Given the description of an element on the screen output the (x, y) to click on. 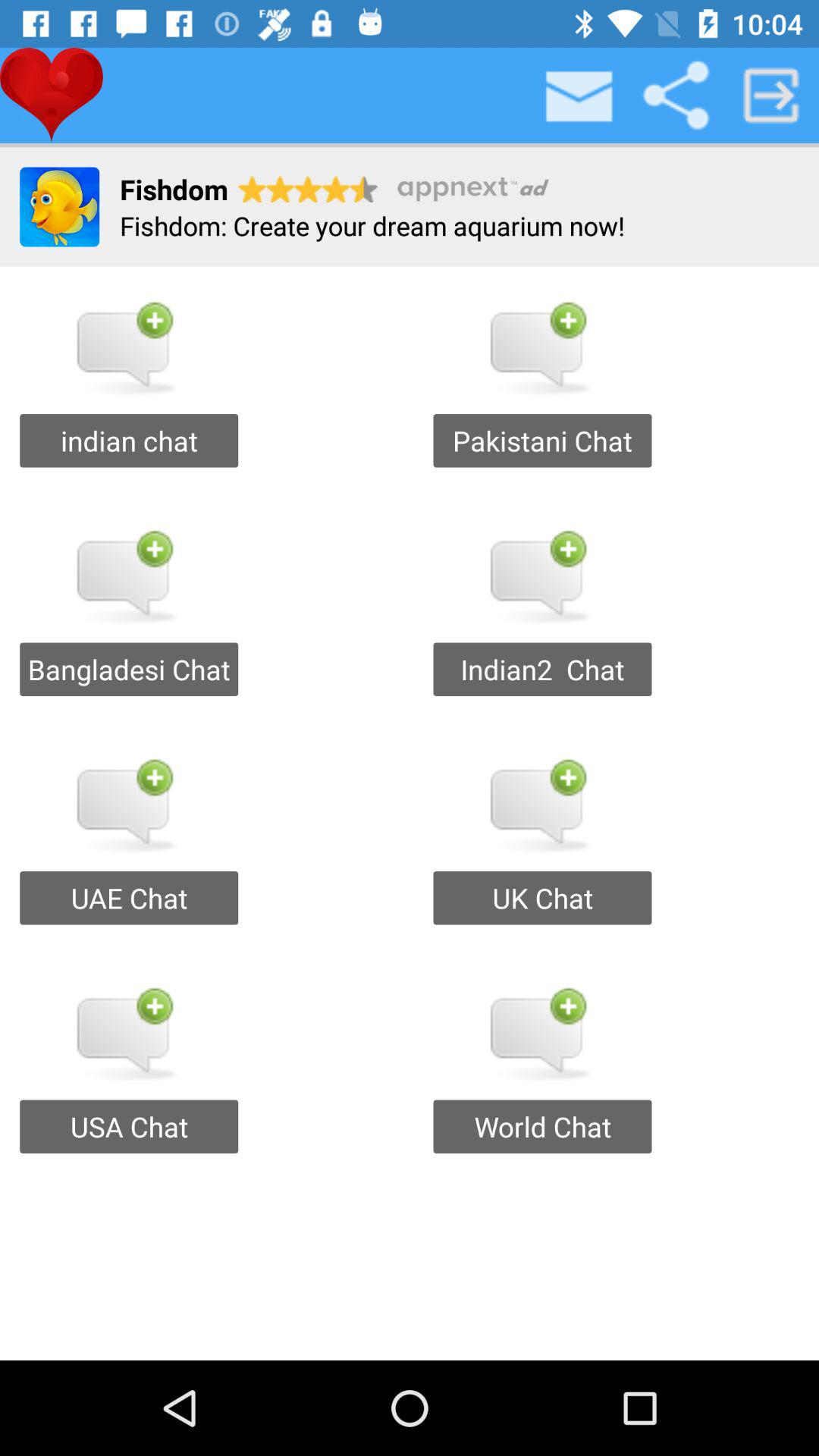
toggle inbox (579, 95)
